Given the description of an element on the screen output the (x, y) to click on. 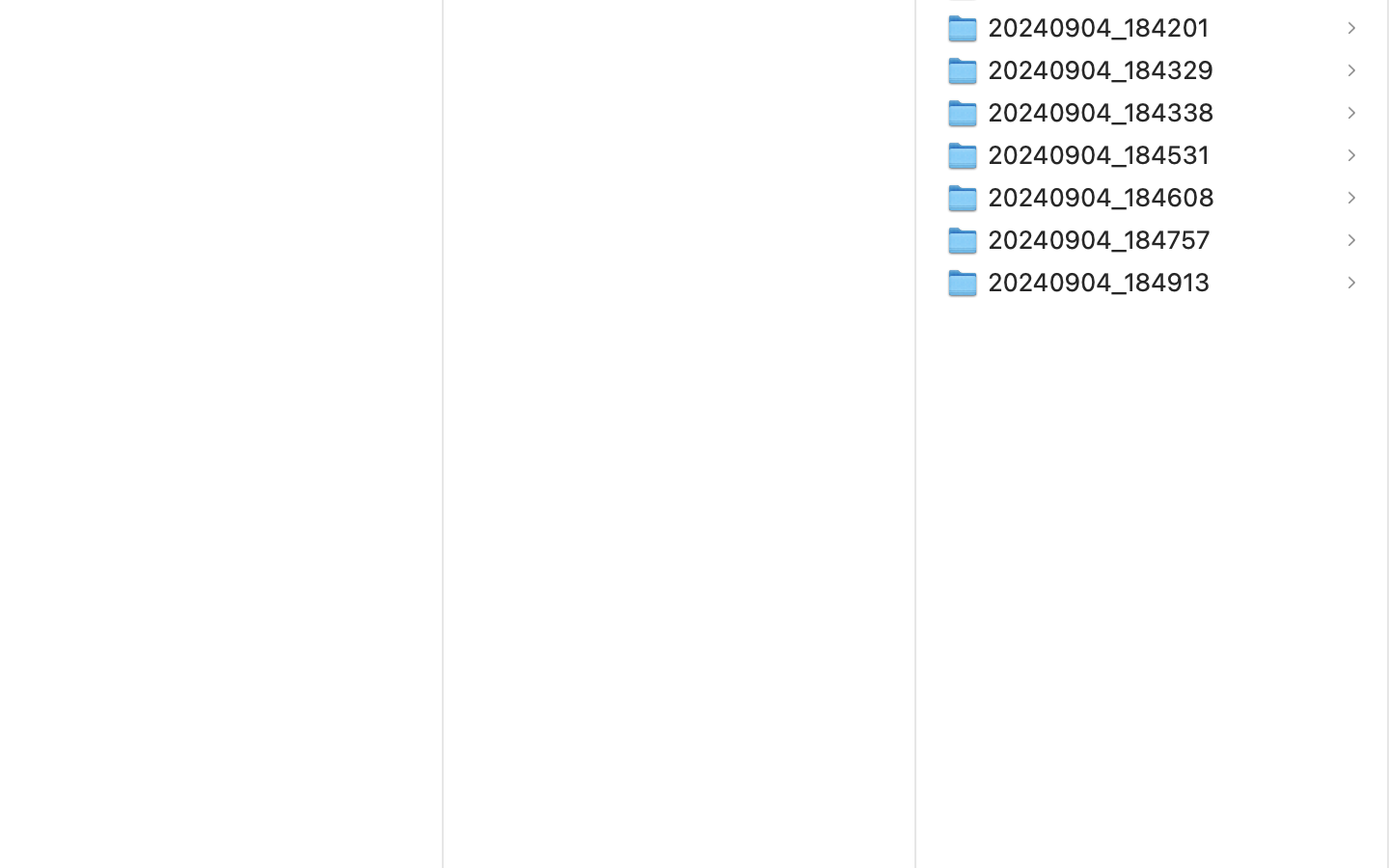
20240904_184201 Element type: AXTextField (1102, 26)
20240904_184329 Element type: AXTextField (1104, 69)
20240904_184913 Element type: AXTextField (1103, 281)
20240904_184757 Element type: AXTextField (1103, 238)
20240904_184608 Element type: AXTextField (1104, 196)
